Given the description of an element on the screen output the (x, y) to click on. 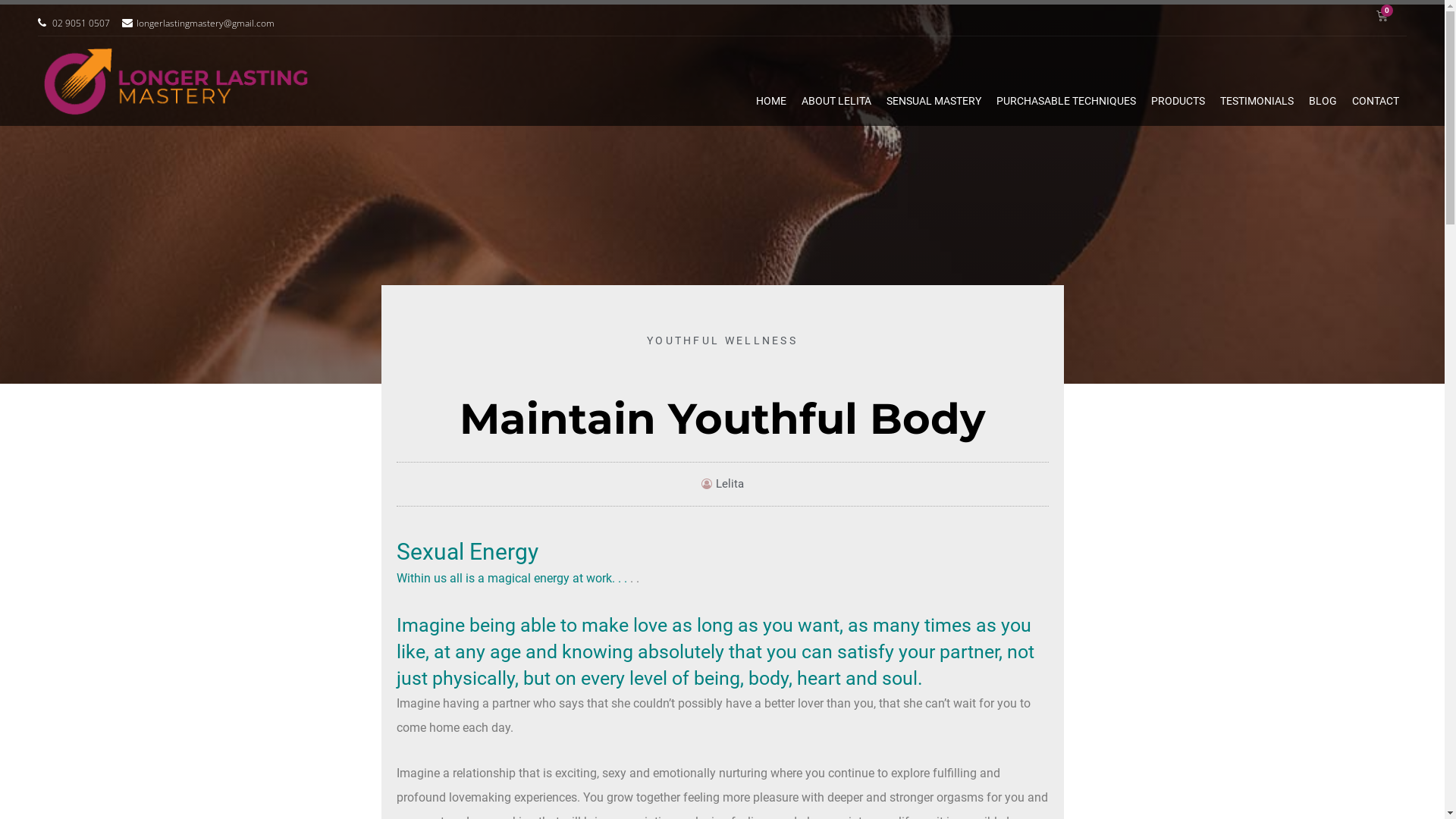
PRODUCTS Element type: text (1177, 100)
Lelita Element type: text (721, 484)
CONTACT Element type: text (1375, 100)
HOME Element type: text (770, 100)
ABOUT LELITA Element type: text (835, 100)
02 9051 0507 Element type: text (73, 23)
BLOG Element type: text (1322, 100)
TESTIMONIALS Element type: text (1256, 100)
longerlastingmastery@gmail.com Element type: text (198, 23)
SENSUAL MASTERY Element type: text (933, 100)
YOUTHFUL WELLNESS Element type: text (721, 340)
PURCHASABLE TECHNIQUES Element type: text (1065, 100)
